Given the description of an element on the screen output the (x, y) to click on. 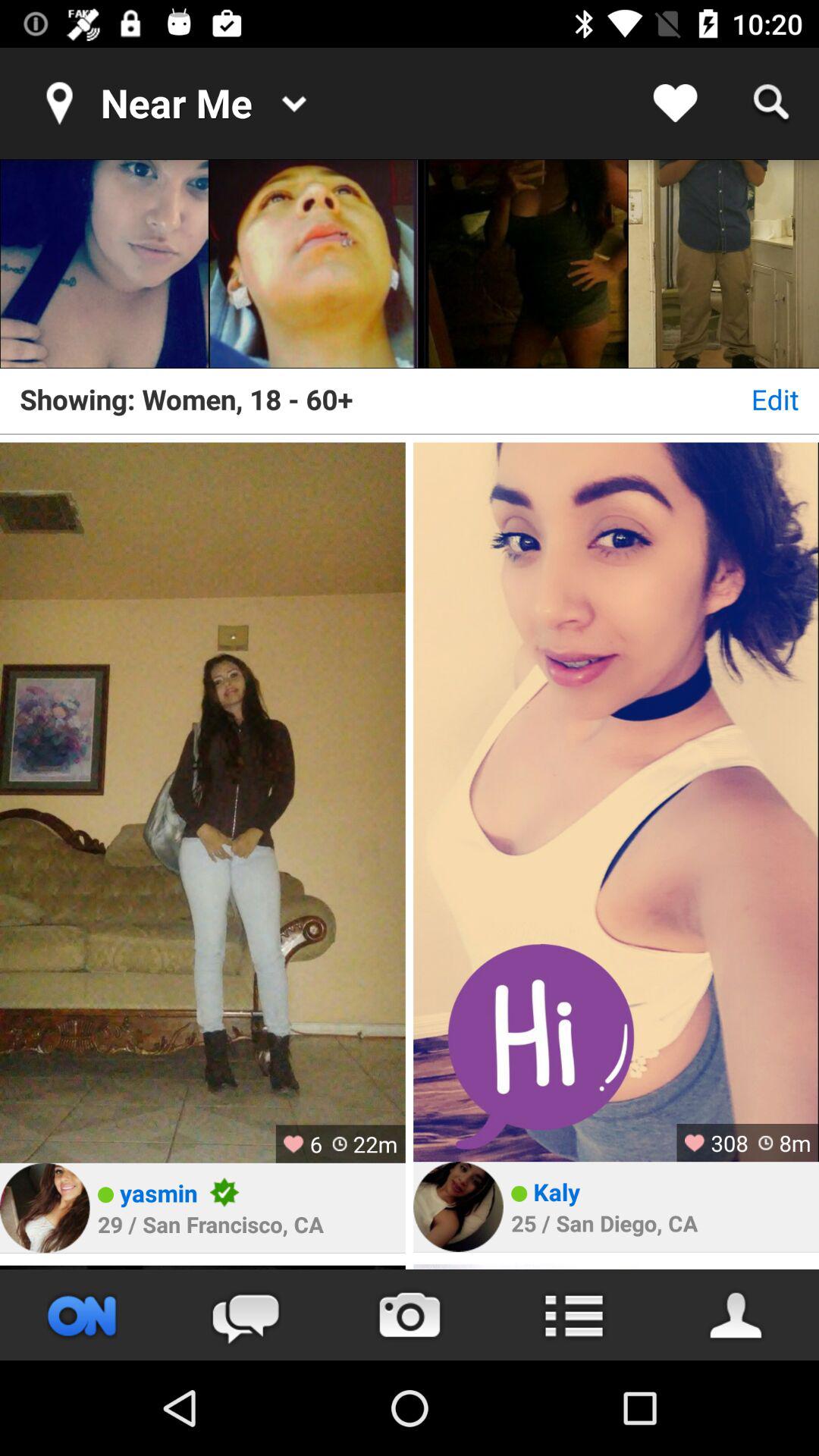
swipe to the kaly item (556, 1191)
